Given the description of an element on the screen output the (x, y) to click on. 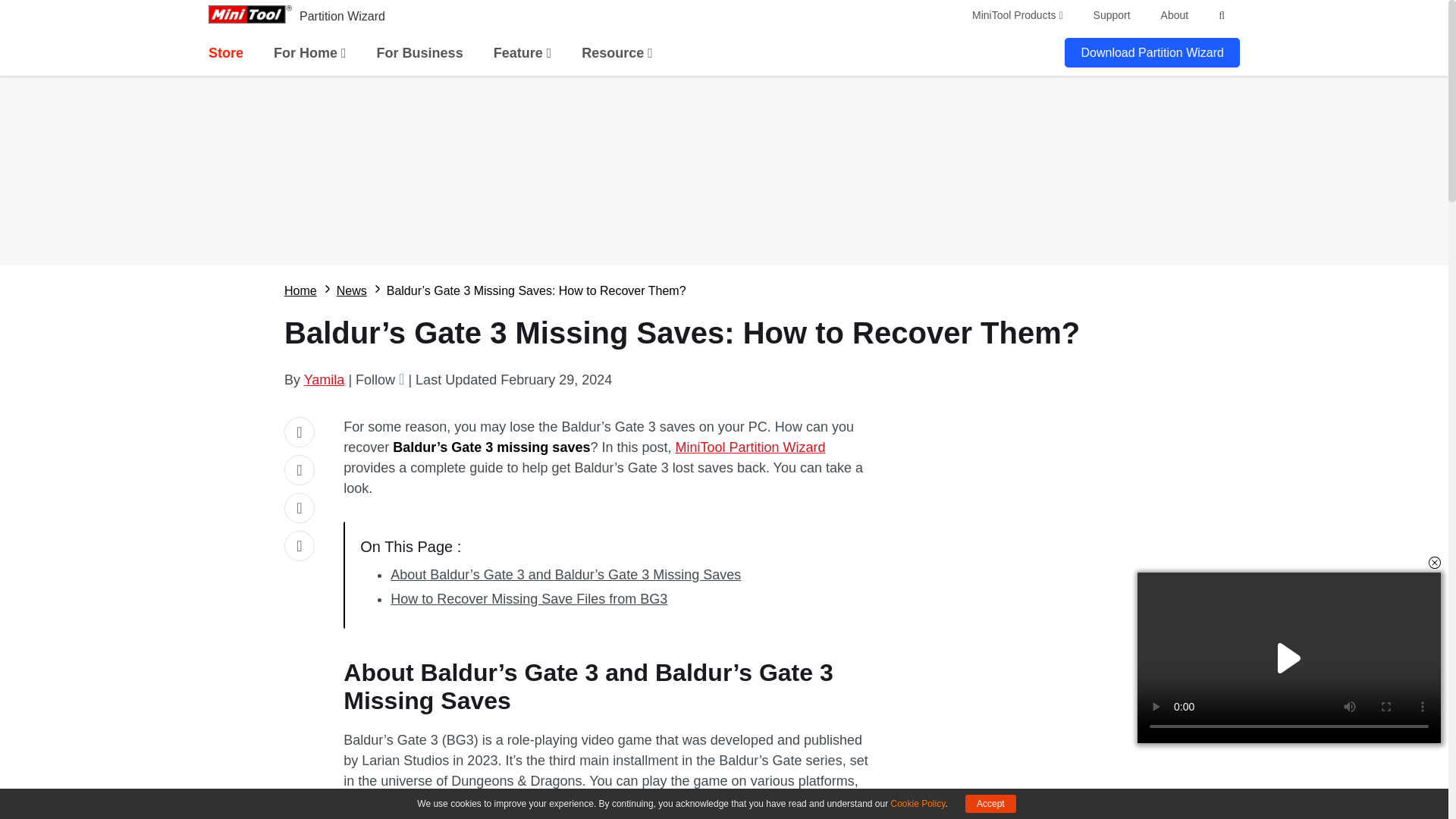
Store (225, 52)
Download Partition Wizard (1152, 52)
Resource (616, 52)
About (1174, 15)
For Home (309, 52)
News (351, 290)
Partition Wizard (342, 15)
Support (1112, 15)
Home (300, 290)
Feature (522, 52)
MiniTool Partition Wizard (750, 447)
MiniTool Products (1017, 15)
For Business (420, 52)
Yamila (324, 379)
How to Recover Missing Save Files from BG3 (528, 598)
